Given the description of an element on the screen output the (x, y) to click on. 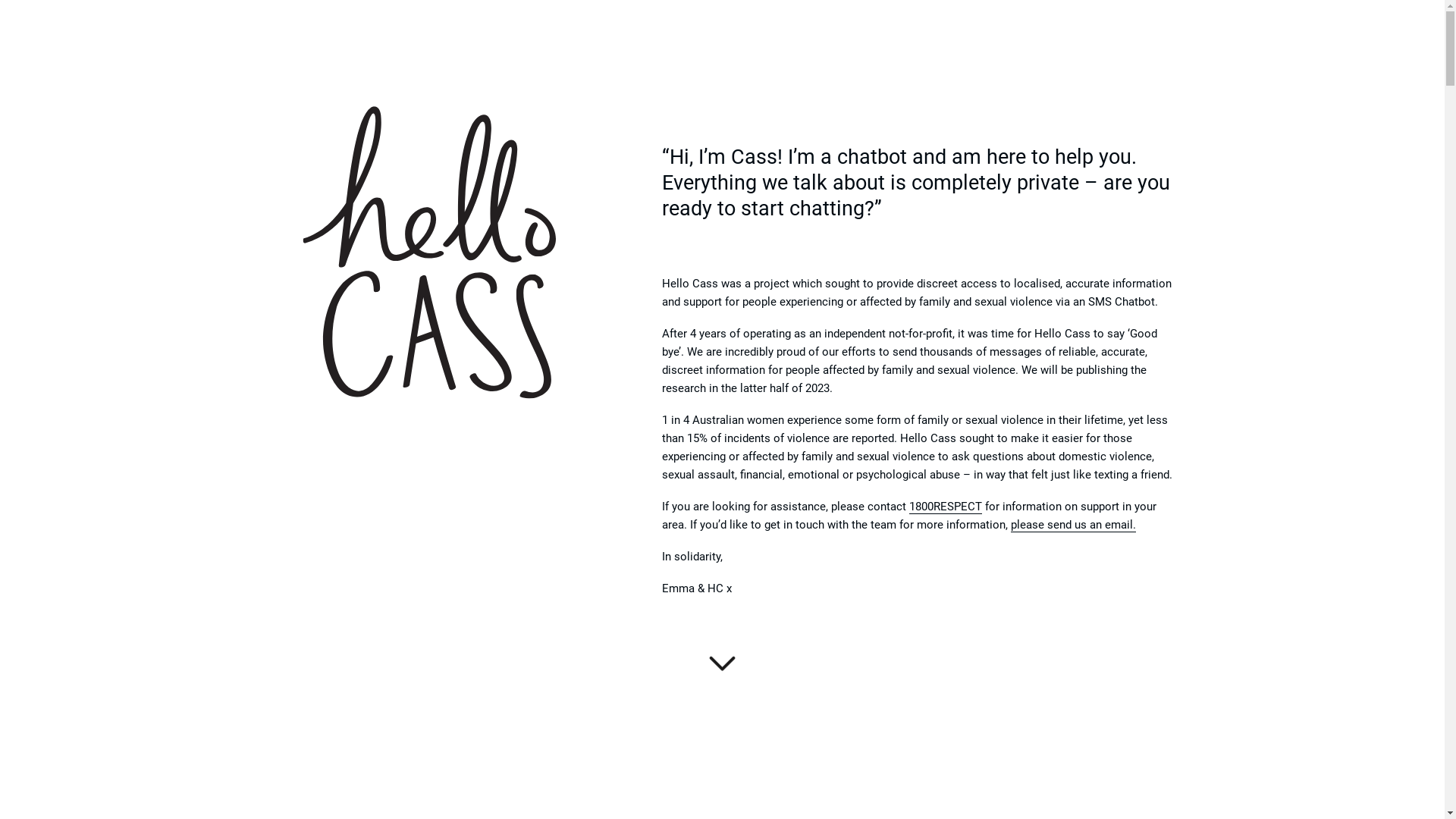
1800RESPECT Element type: text (944, 506)
please send us an email. Element type: text (1072, 524)
Move down Element type: text (721, 672)
